Given the description of an element on the screen output the (x, y) to click on. 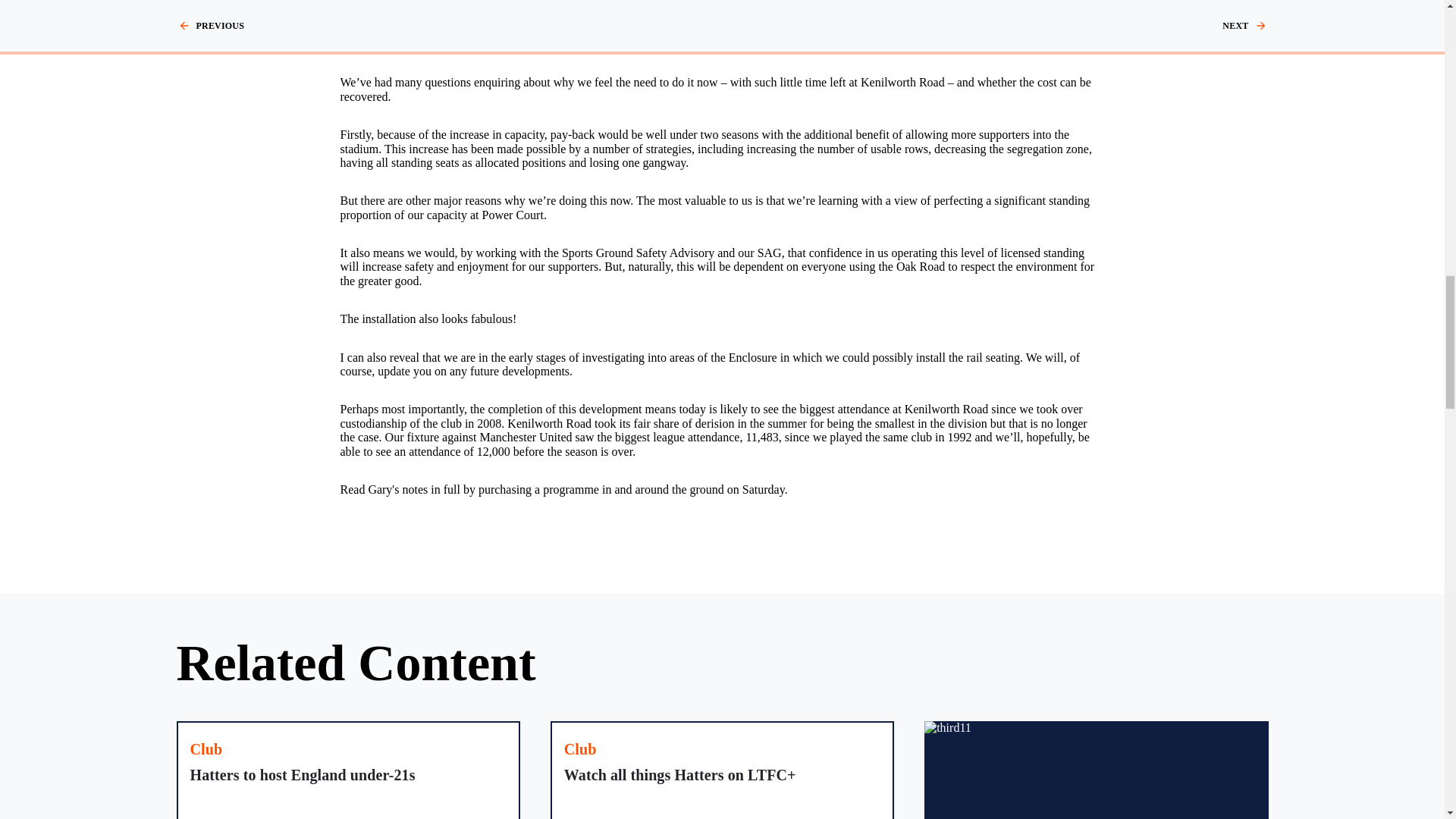
Hatters to host England under-21s (347, 770)
Club (205, 749)
Retro crest returns to new third shirt (1096, 770)
Club (205, 749)
Club (580, 749)
Club (580, 749)
